Given the description of an element on the screen output the (x, y) to click on. 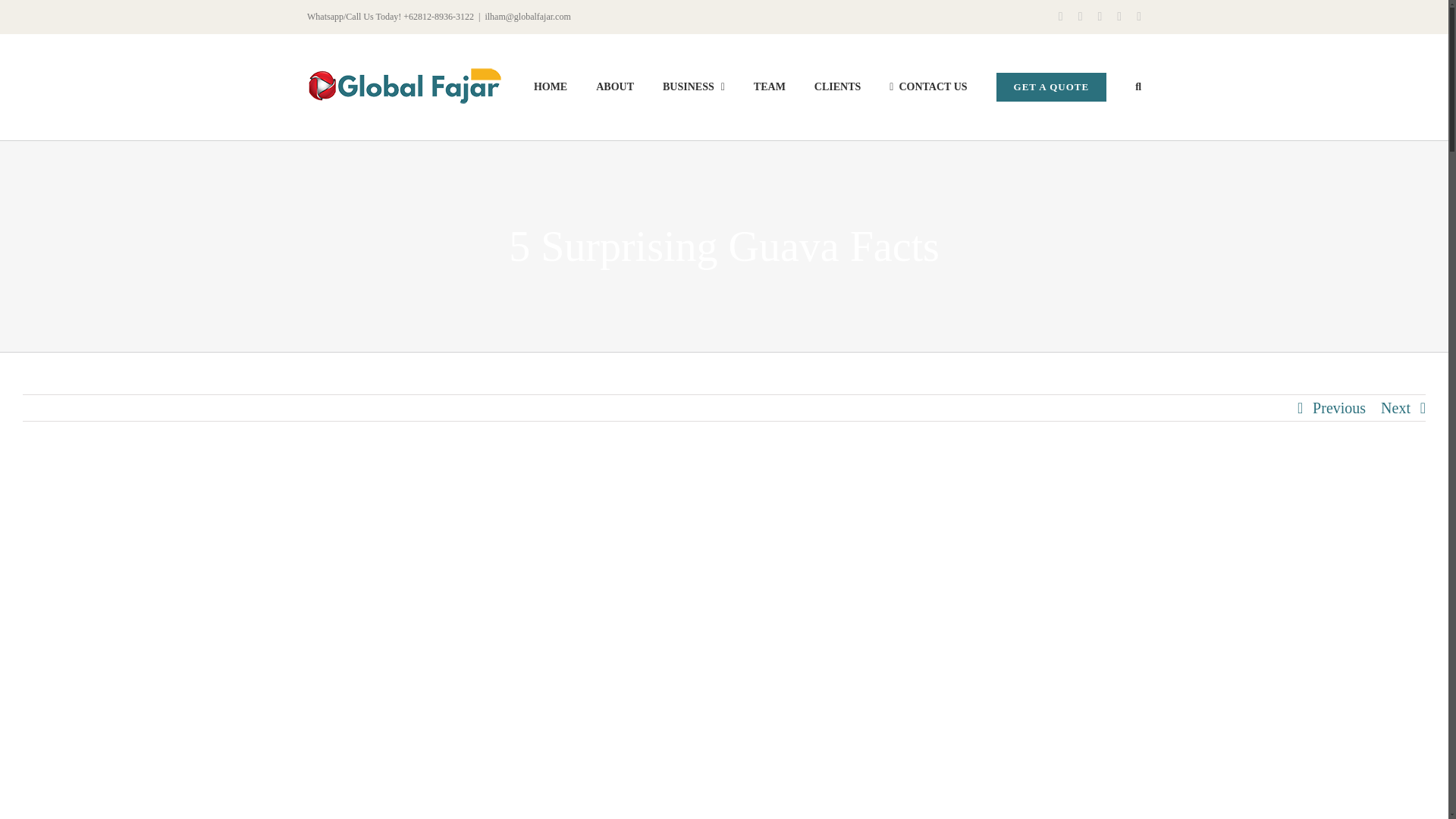
GET A QUOTE (1050, 86)
CONTACT US (927, 86)
Next (1395, 407)
Previous (1339, 407)
